Given the description of an element on the screen output the (x, y) to click on. 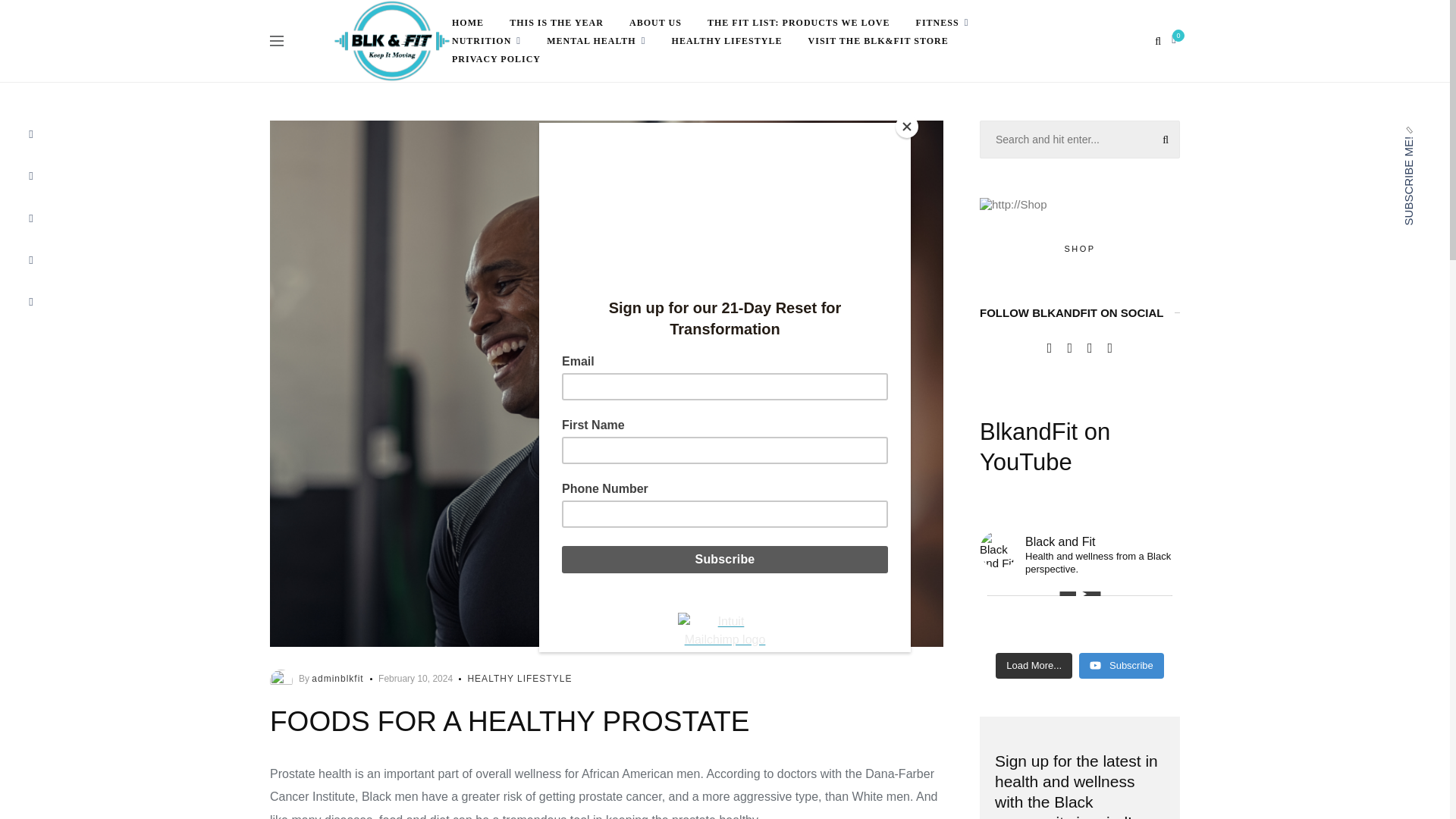
THE FIT LIST: PRODUCTS WE LOVE (798, 22)
adminblkfit (336, 678)
MENTAL HEALTH (596, 40)
Posts by adminblkfit (336, 678)
NUTRITION (486, 40)
THIS IS THE YEAR (556, 22)
HEALTHY LIFESTYLE (519, 678)
ABOUT US (654, 22)
HOME (467, 22)
PRIVACY POLICY (495, 58)
